Given the description of an element on the screen output the (x, y) to click on. 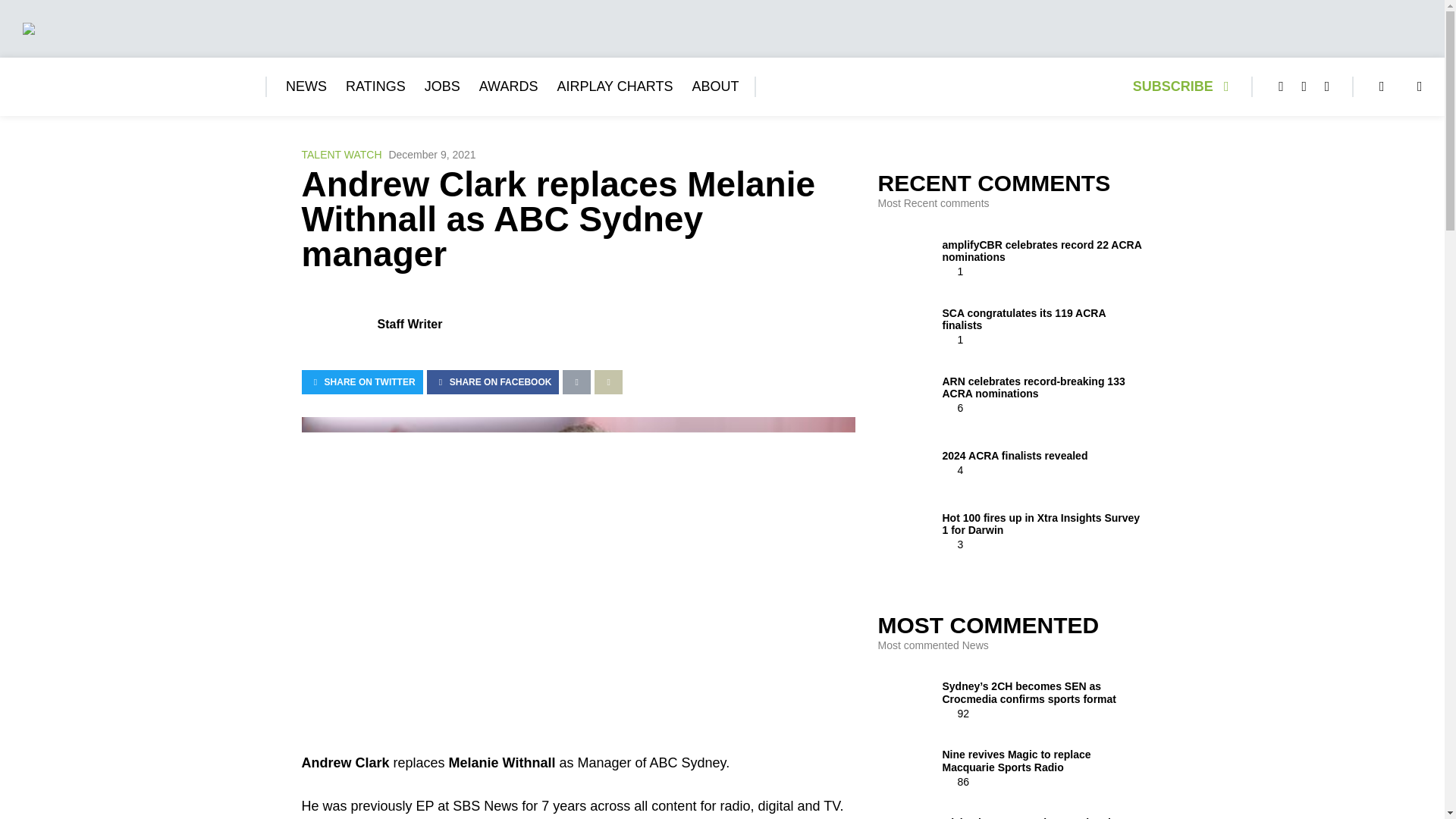
NEWS (305, 86)
SHARE ON FACEBOOK (492, 381)
SHARE ON TWITTER (362, 381)
AWARDS (508, 86)
TALENT WATCH (341, 154)
Staff Writer (409, 323)
AIRPLAY CHARTS (614, 86)
Close (1427, 16)
SUBSCRIBE (1184, 86)
RATINGS (376, 86)
JOBS (442, 86)
ABOUT (714, 86)
